Given the description of an element on the screen output the (x, y) to click on. 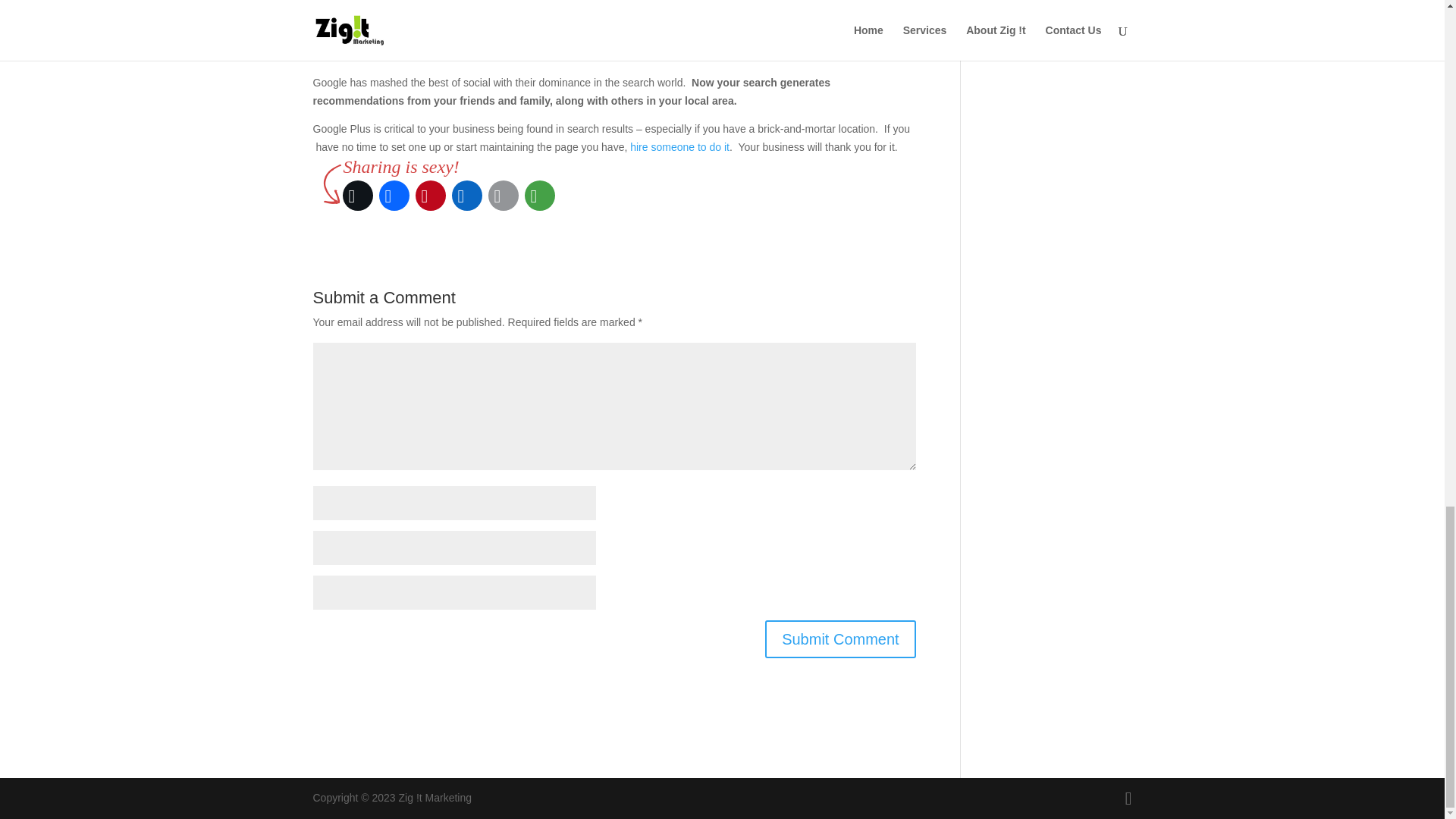
Zig !t Marketing (679, 146)
google-local (875, 5)
Facebook (393, 195)
Submit Comment (840, 638)
LinkedIn (466, 195)
Pinterest (430, 195)
Submit Comment (840, 638)
hire someone to do it (679, 146)
